Given the description of an element on the screen output the (x, y) to click on. 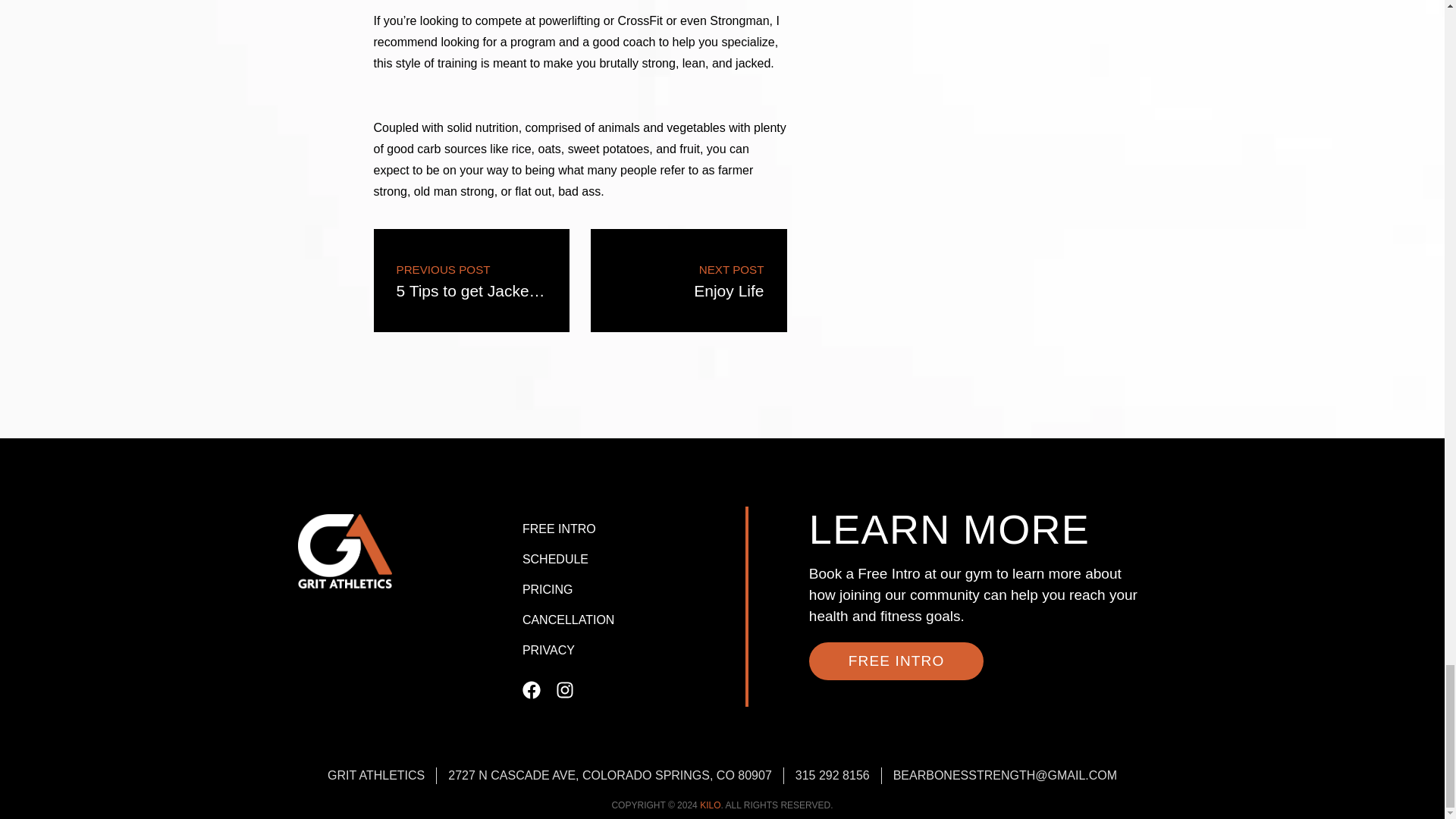
PRIVACY (630, 650)
SCHEDULE (630, 559)
CANCELLATION (470, 280)
PRICING (688, 280)
FREE INTRO (630, 620)
